Given the description of an element on the screen output the (x, y) to click on. 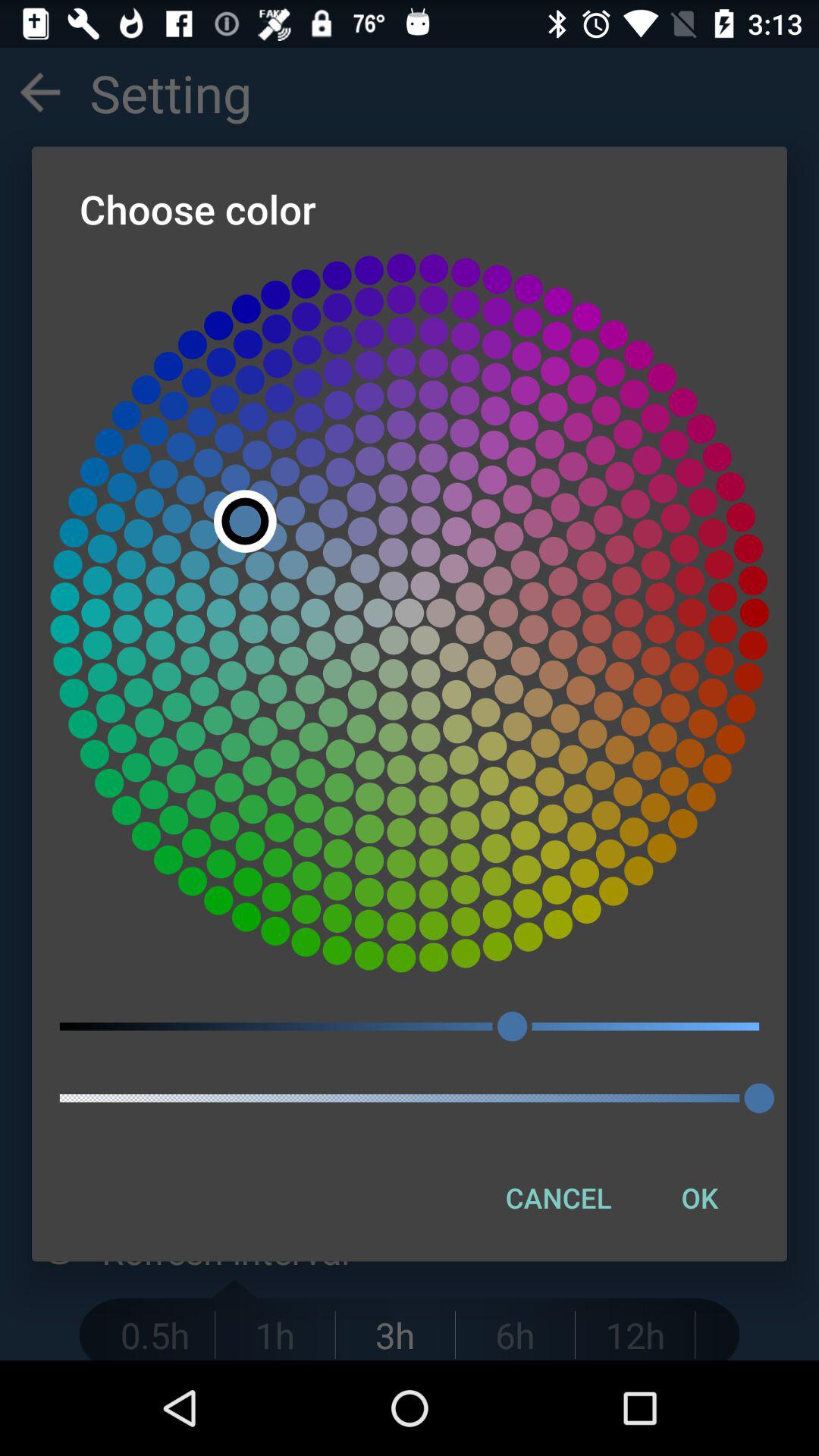
select the icon to the right of the cancel (699, 1197)
